Given the description of an element on the screen output the (x, y) to click on. 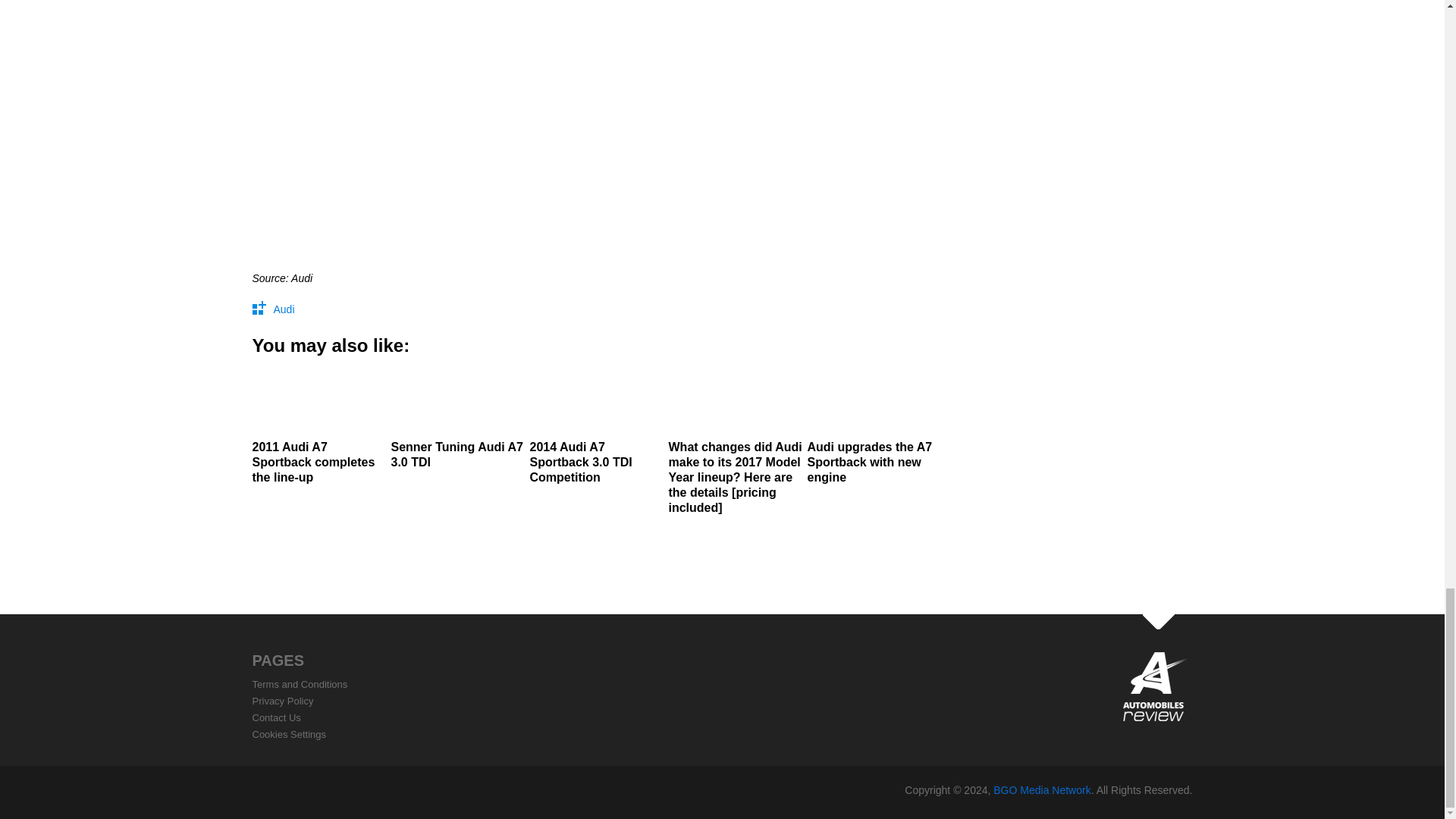
Audi upgrades the A7 Sportback with new engine (874, 426)
Terms and Conditions (299, 684)
Privacy Policy (282, 700)
2014 Audi A7 Sportback 3.0 TDI Competition (596, 426)
Senner Tuning Audi A7 3.0 TDI (458, 419)
Audi (283, 309)
2011 Audi A7 Sportback completes the line-up (319, 426)
Terms and Conditions (299, 684)
Privacy Policy (282, 700)
